Given the description of an element on the screen output the (x, y) to click on. 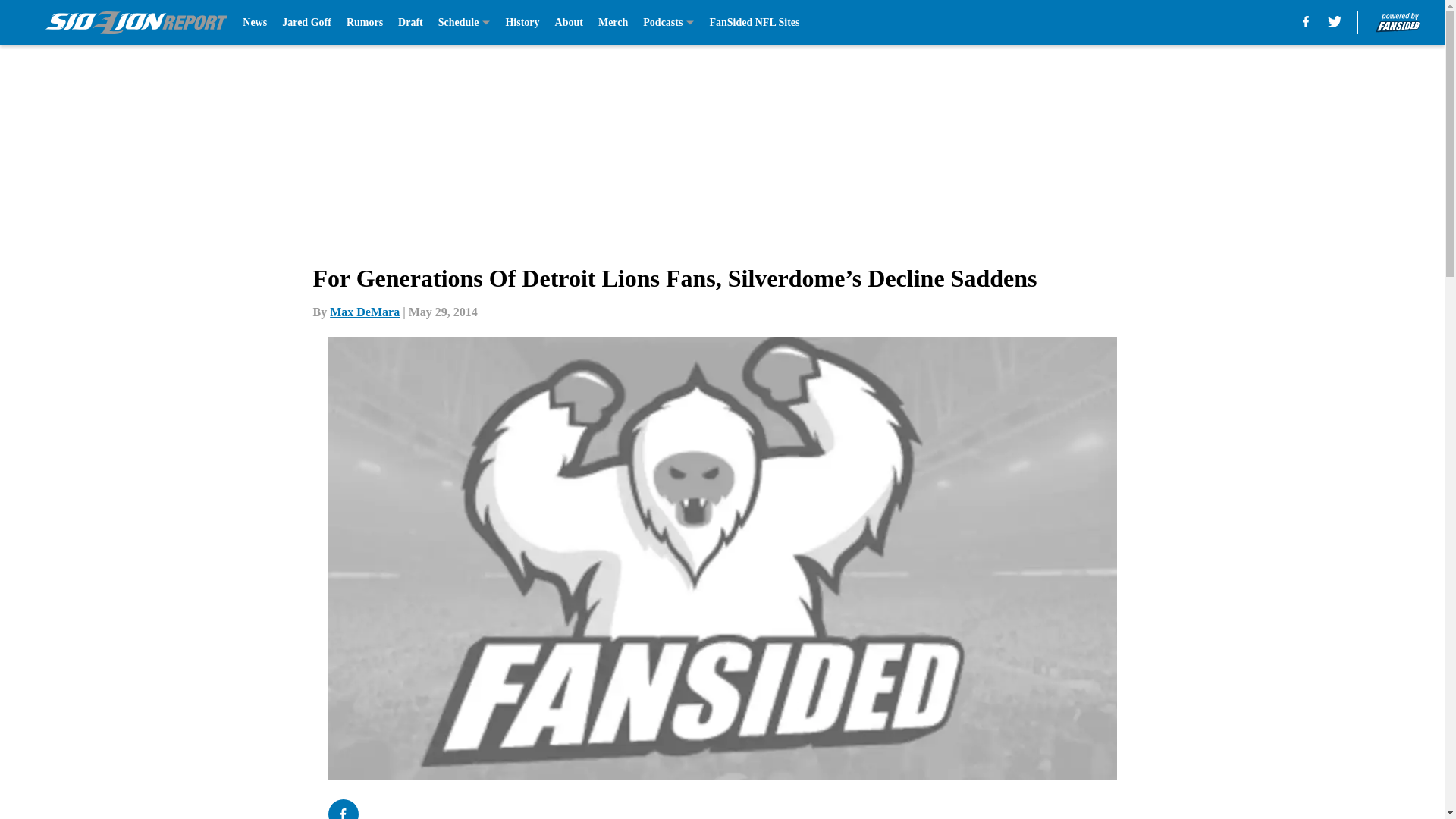
Merch (612, 22)
News (254, 22)
Jared Goff (306, 22)
History (521, 22)
About (568, 22)
Max DeMara (364, 311)
Draft (410, 22)
Rumors (364, 22)
FanSided NFL Sites (754, 22)
